Given the description of an element on the screen output the (x, y) to click on. 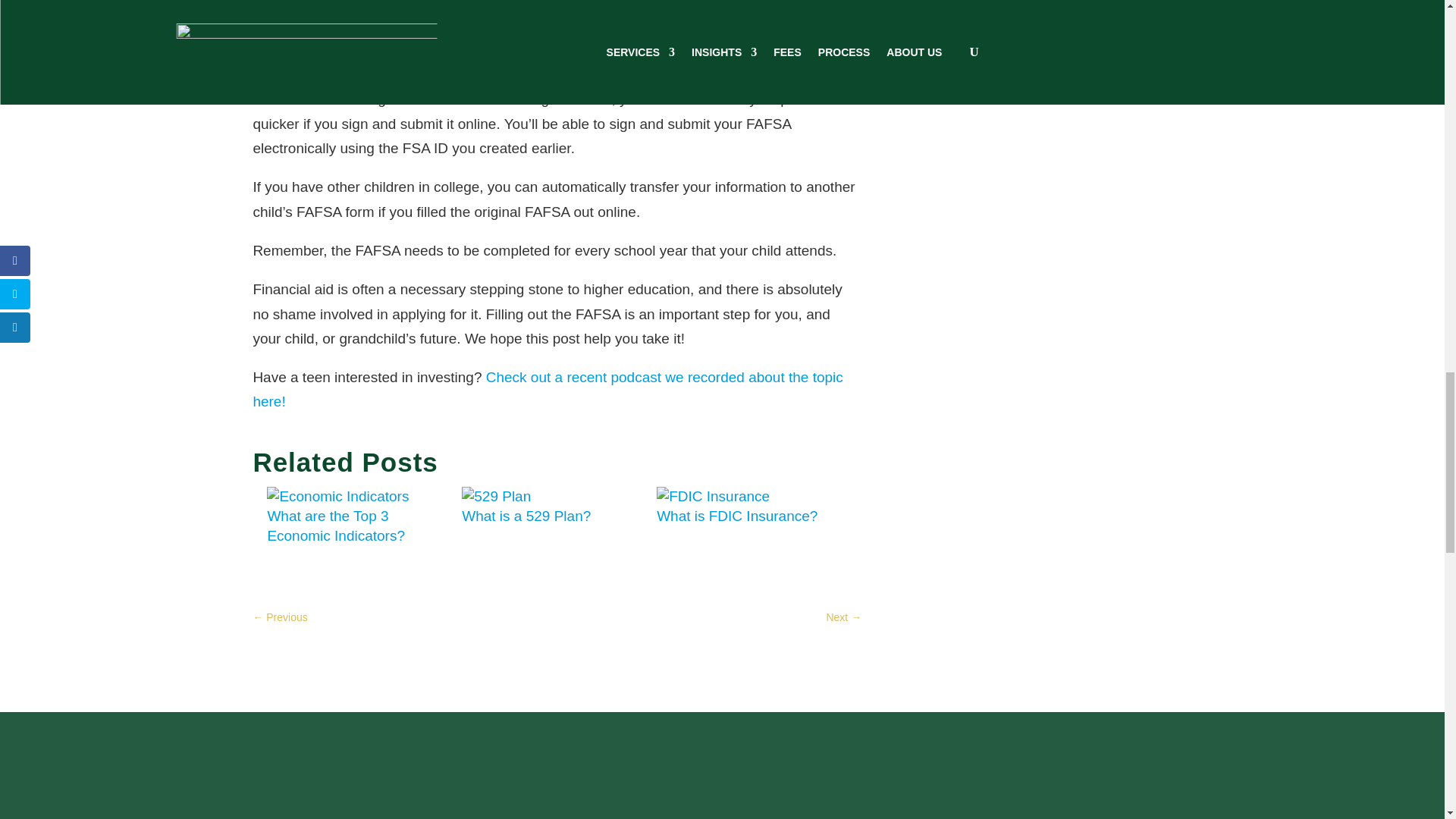
What are the Top 3 Economic Indicators? - 1 (337, 496)
Check out a recent podcast we recorded about the topic here! (547, 389)
What is a 529 Plan? - 2 (496, 496)
What is a 529 Plan? (526, 506)
What are the Top 3 Economic Indicators? (337, 515)
What is FDIC Insurance? (736, 506)
